Given the description of an element on the screen output the (x, y) to click on. 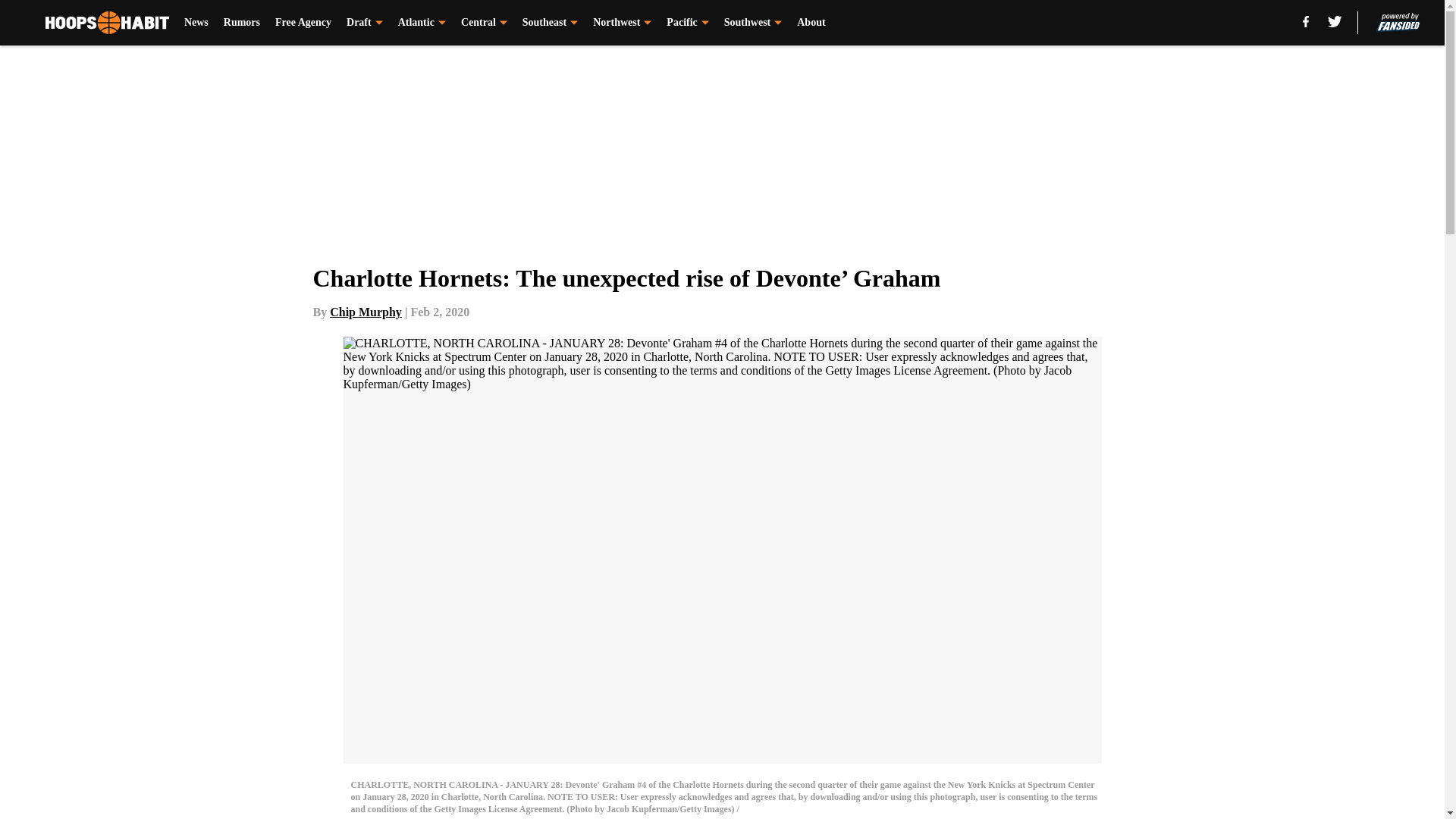
Atlantic (421, 22)
Northwest (621, 22)
Rumors (242, 22)
Central (483, 22)
Free Agency (303, 22)
Draft (364, 22)
News (196, 22)
Southeast (550, 22)
